Given the description of an element on the screen output the (x, y) to click on. 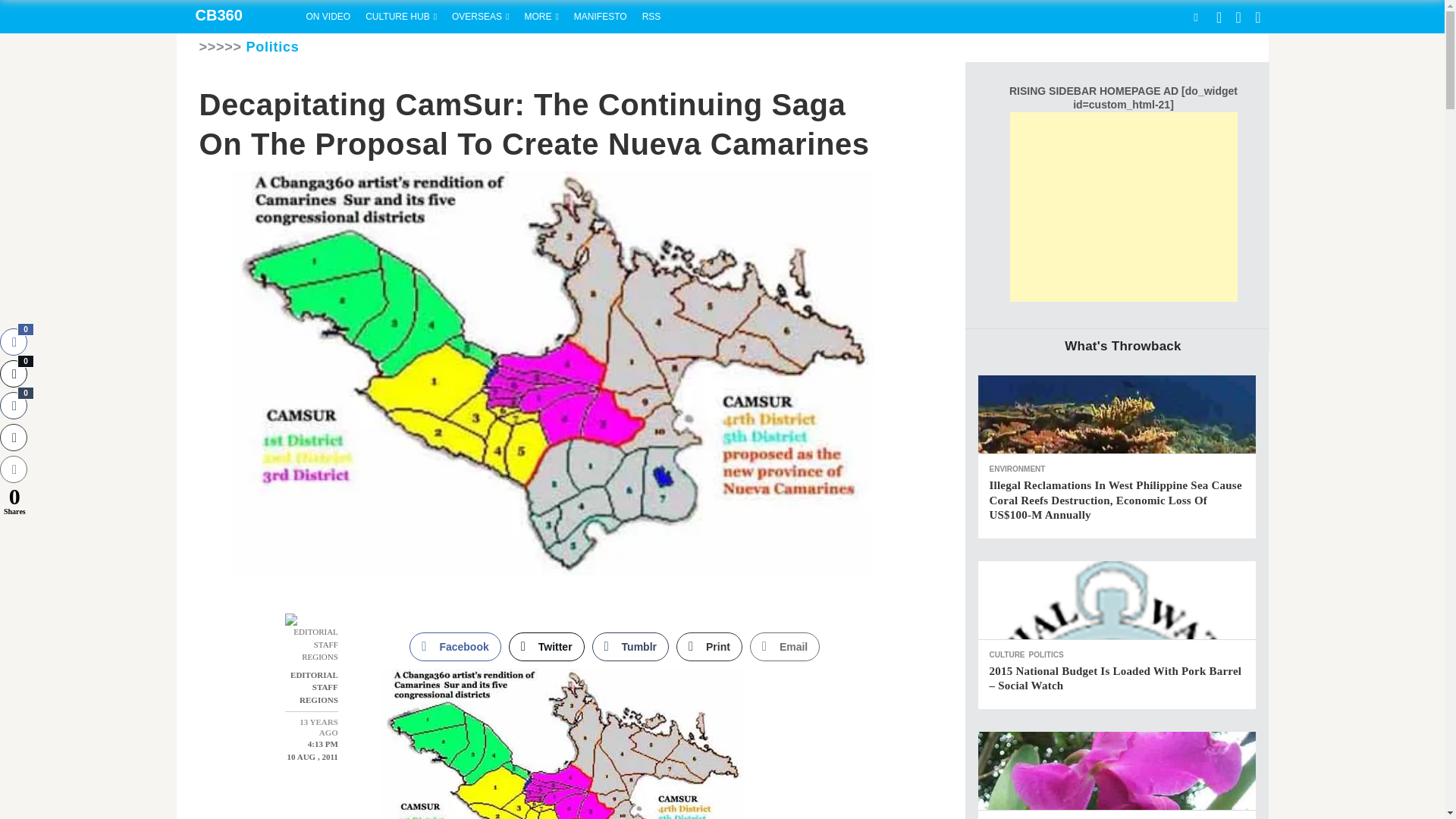
CULTURE HUB (401, 16)
MORE (541, 16)
About Us (600, 16)
world (480, 16)
ON VIDEO (328, 16)
CB360 (237, 16)
OVERSEAS (480, 16)
